Given the description of an element on the screen output the (x, y) to click on. 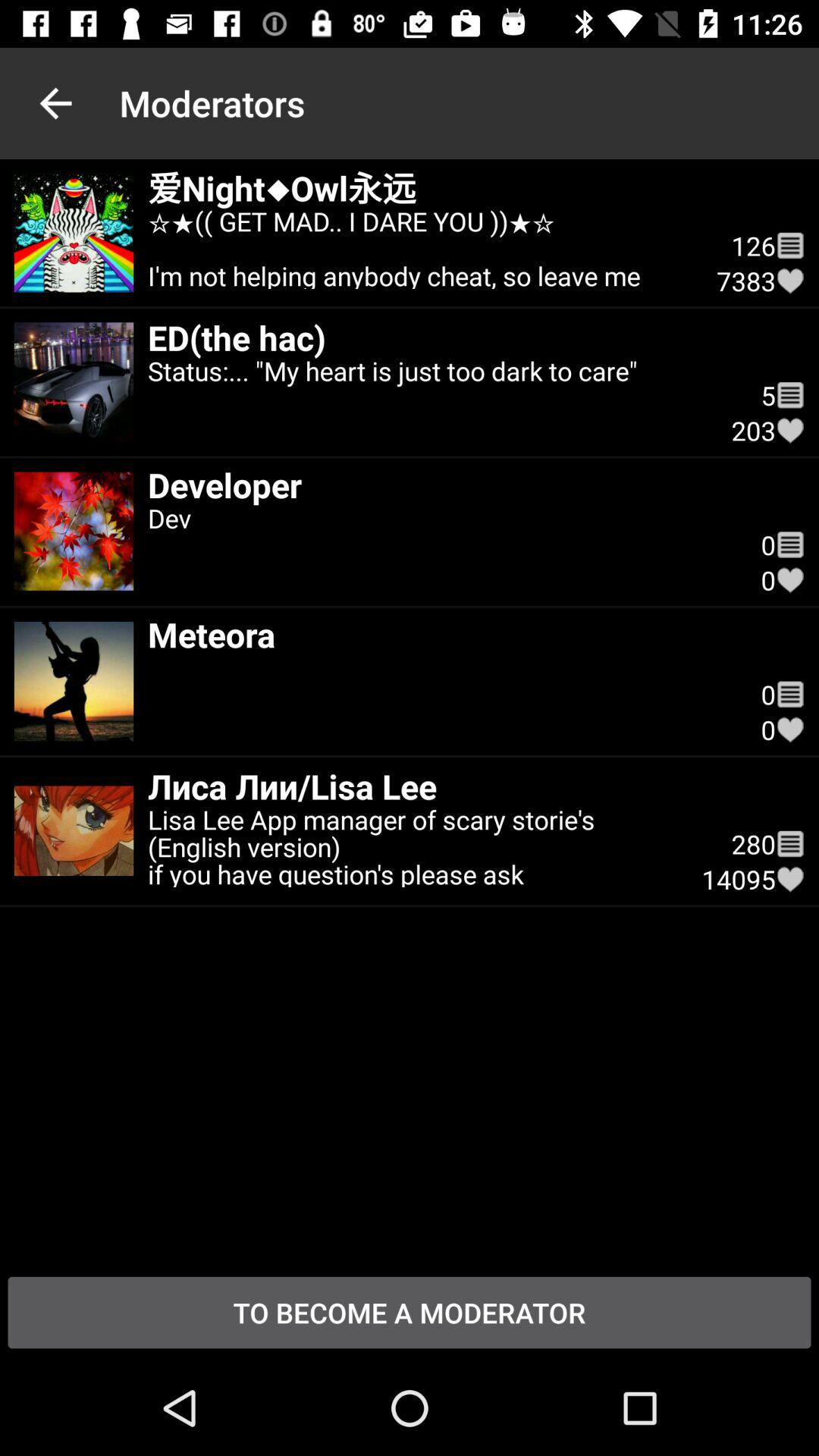
turn off icon next to the moderators app (55, 103)
